Given the description of an element on the screen output the (x, y) to click on. 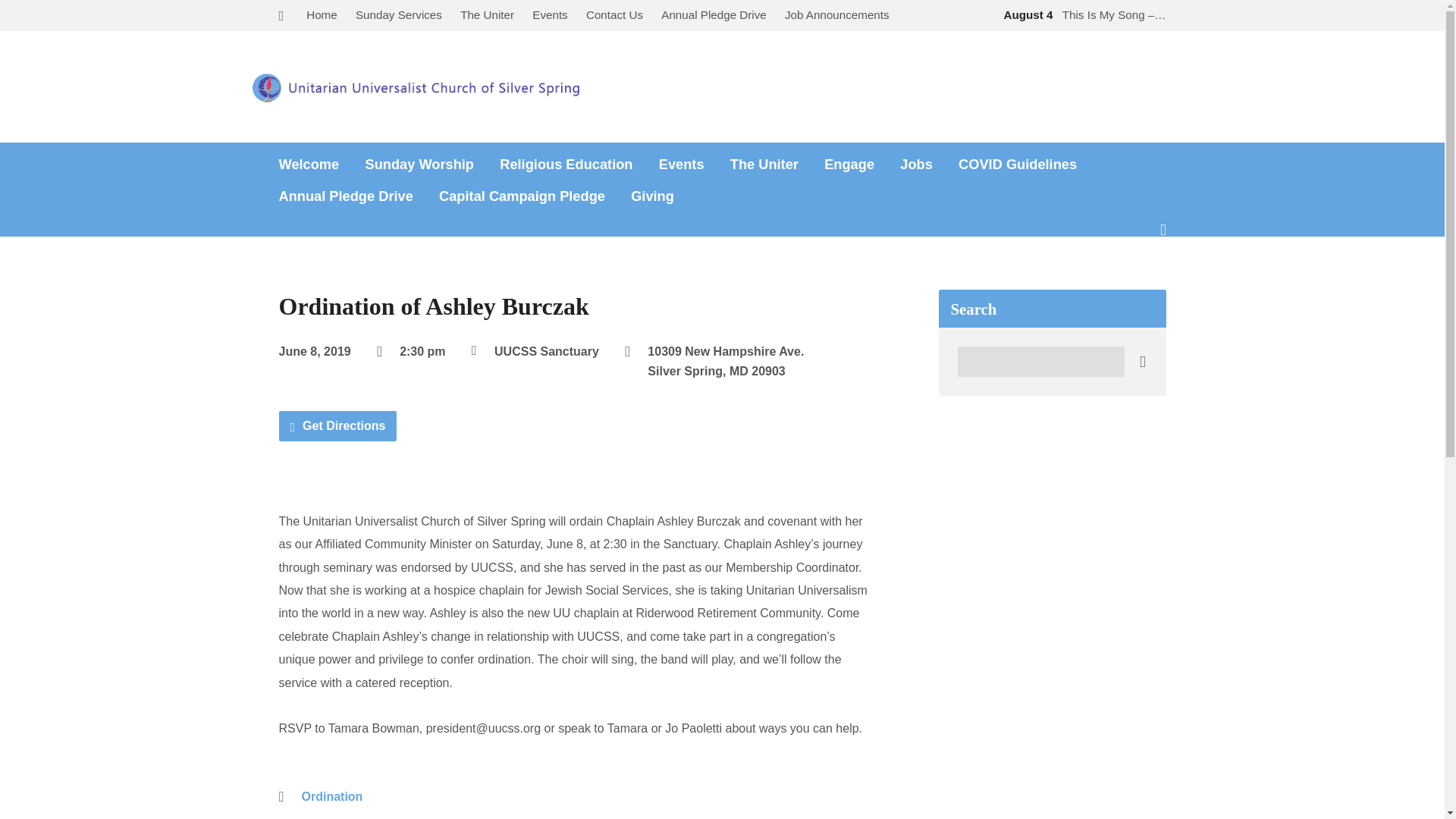
Job Announcements (836, 14)
Events (549, 14)
Religious Education (565, 164)
Welcome (309, 164)
Events (681, 164)
Annual Pledge Drive (713, 14)
Engage (849, 164)
The Uniter (486, 14)
The Uniter (763, 164)
Sunday Services (398, 14)
Home (321, 14)
Contact Us (614, 14)
Sunday Worship (419, 164)
